Given the description of an element on the screen output the (x, y) to click on. 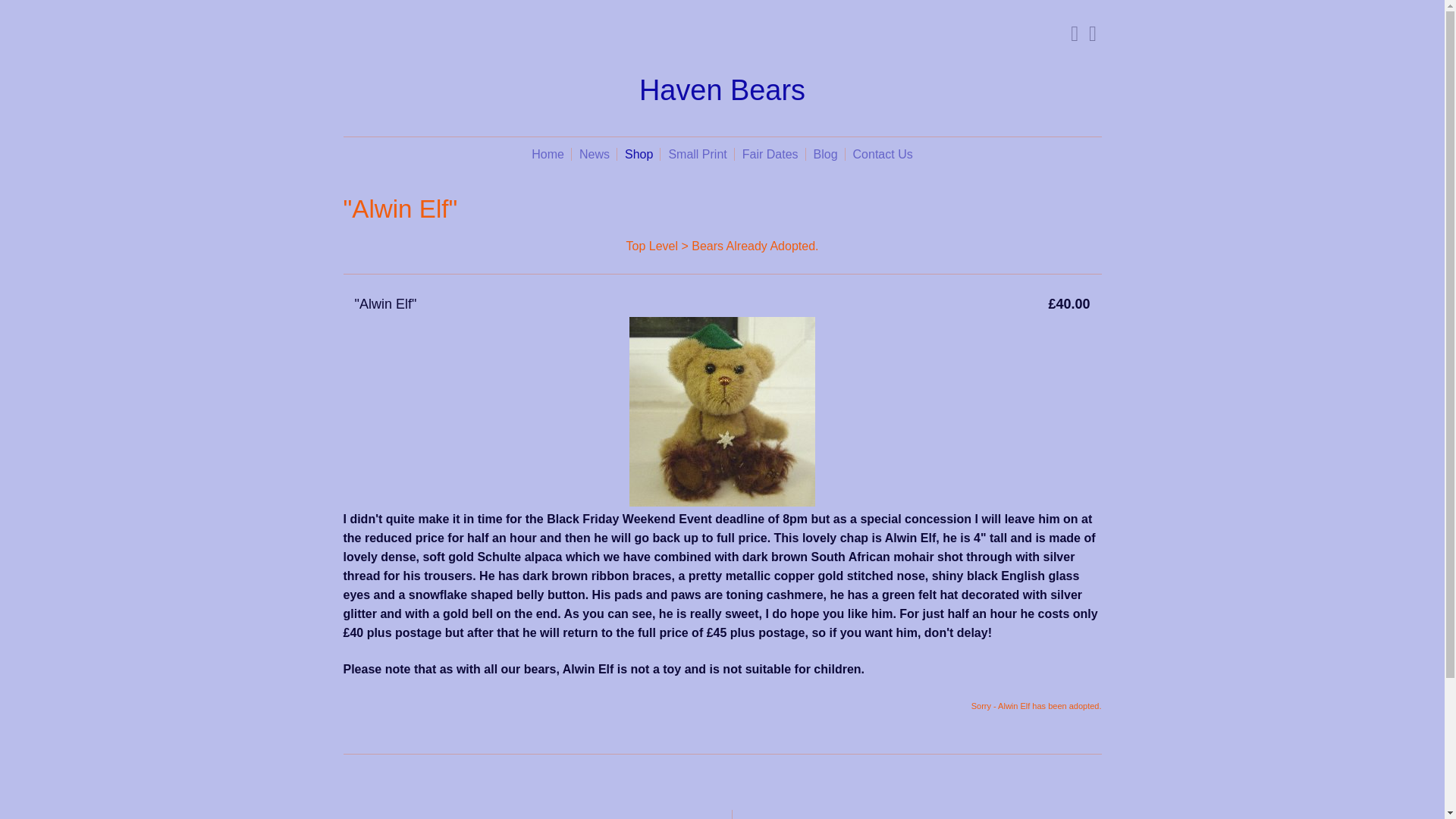
Small Print (697, 154)
Top Level (652, 245)
Home (548, 154)
News (594, 154)
Shop (639, 154)
Contact Us (882, 154)
Blog (825, 154)
Haven Bears (722, 90)
Search (1067, 33)
Bears Already Adopted. (754, 245)
